Given the description of an element on the screen output the (x, y) to click on. 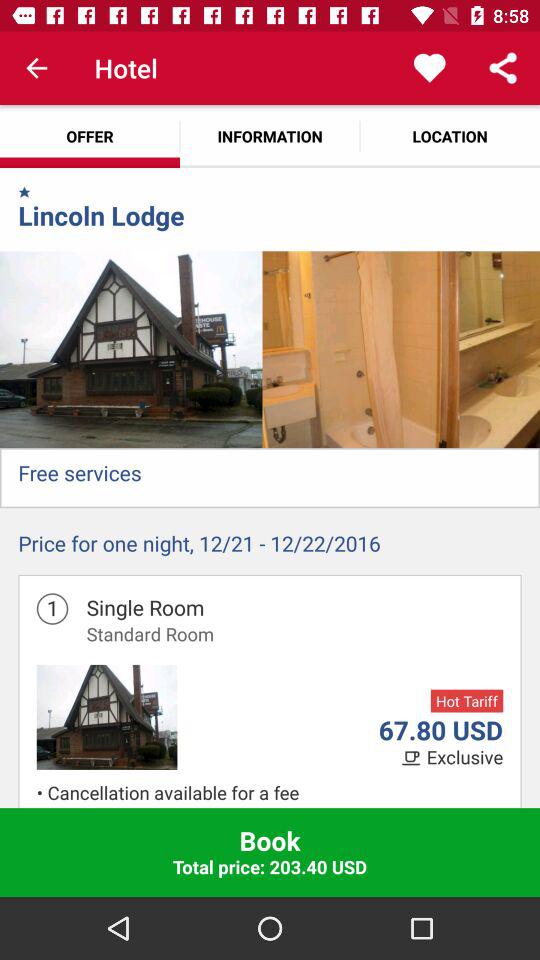
choose item below the 67.80 usd icon (413, 758)
